Given the description of an element on the screen output the (x, y) to click on. 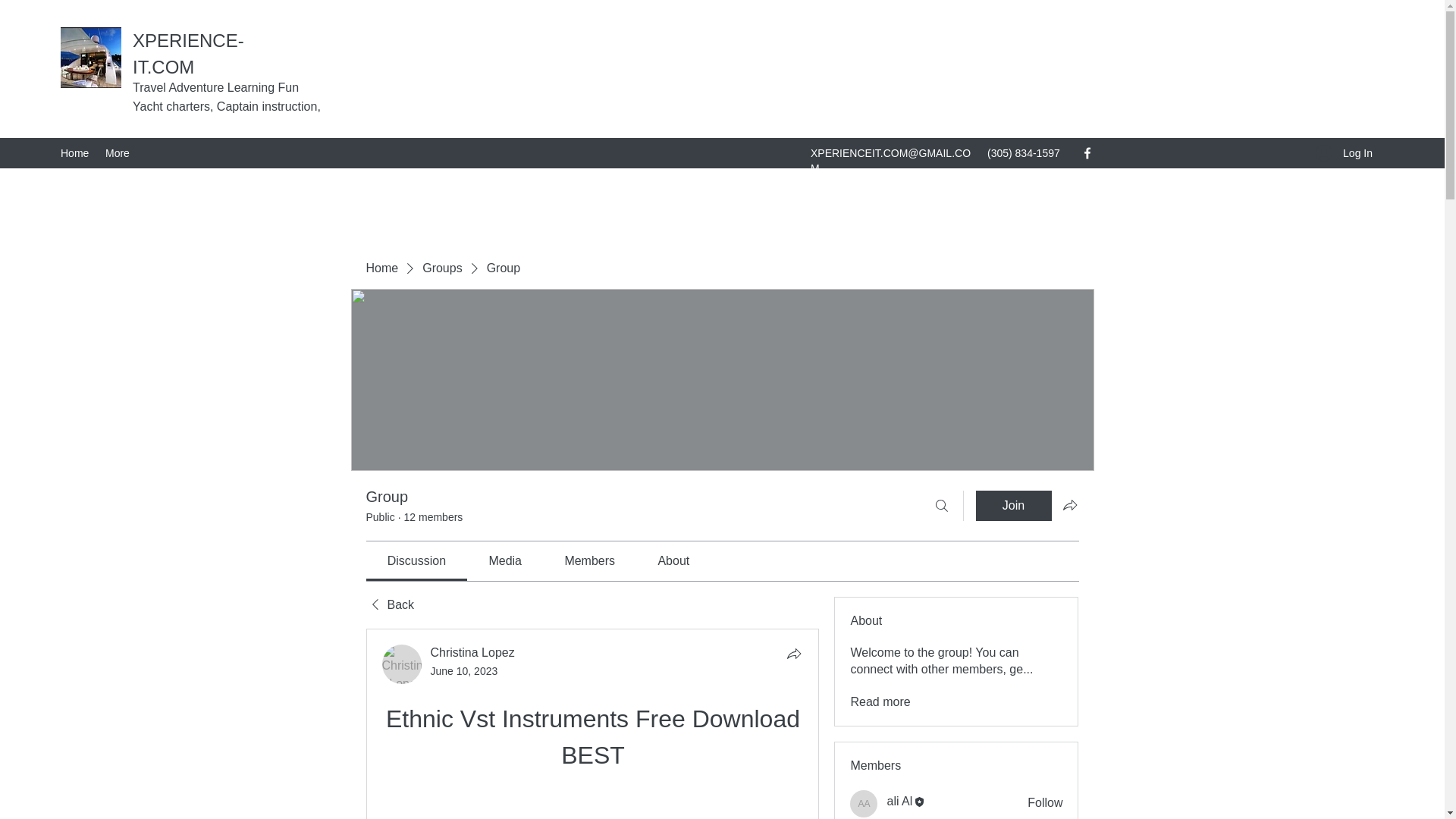
Groups (441, 268)
Back (389, 605)
June 10, 2023 (463, 671)
Read more (880, 701)
Christina Lopez (401, 663)
Join (1013, 505)
Home (381, 268)
Home (74, 152)
Follow (1044, 802)
ali Al (863, 803)
ali Al (899, 800)
Log In (1343, 153)
